Given the description of an element on the screen output the (x, y) to click on. 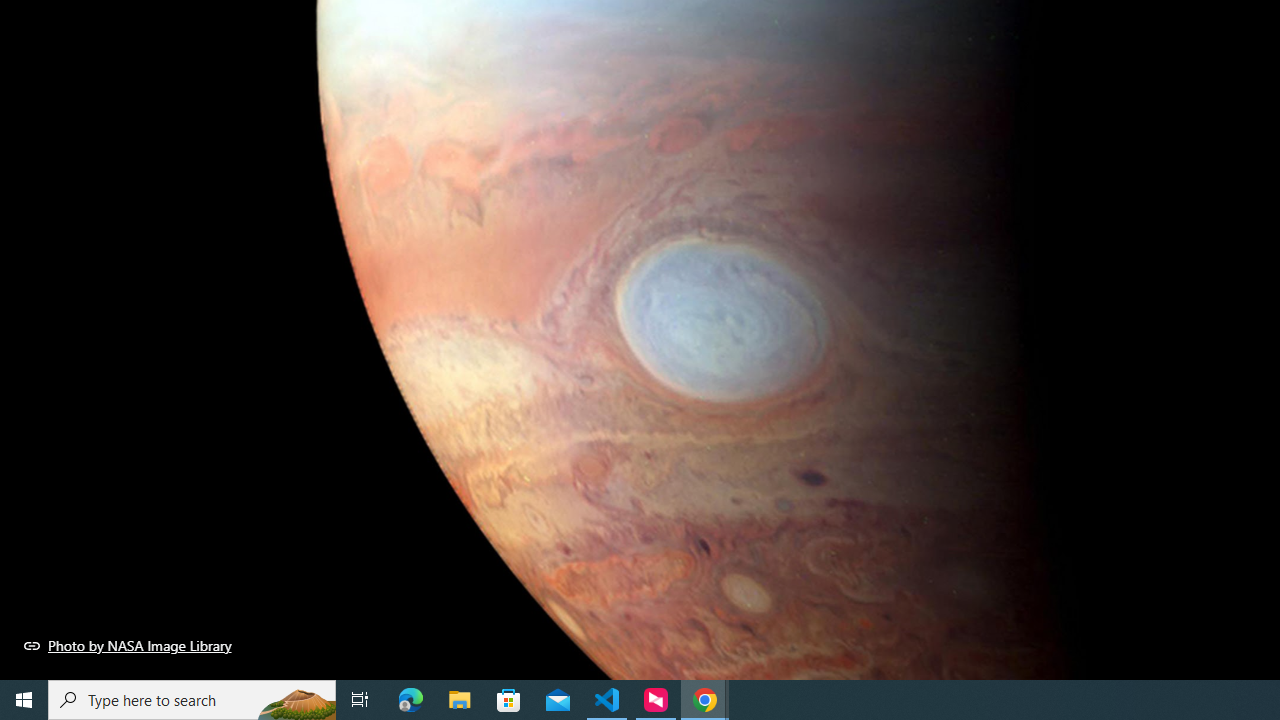
Photo by NASA Image Library (127, 645)
